Given the description of an element on the screen output the (x, y) to click on. 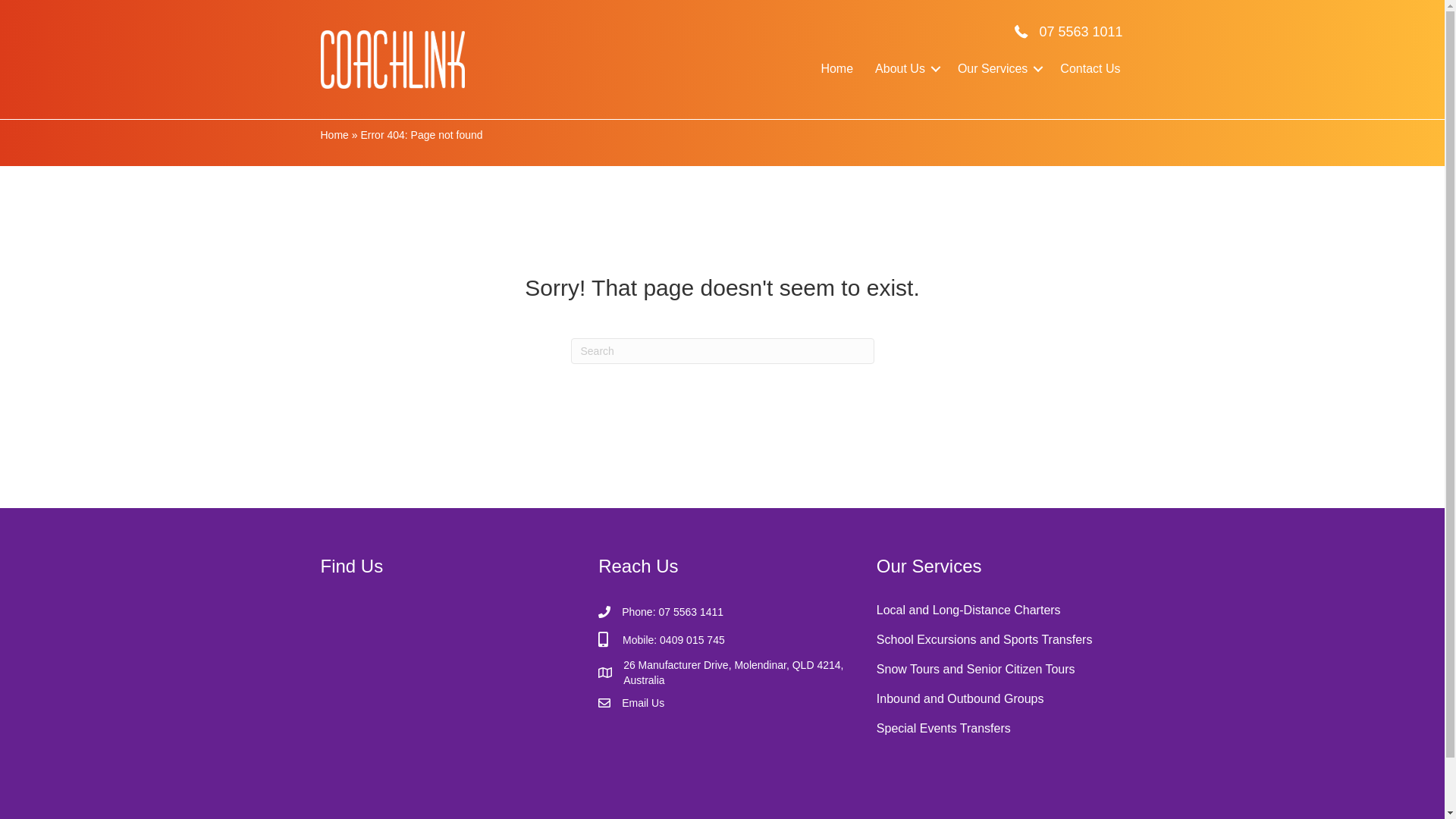
Home Element type: text (334, 134)
School Excursions and Sports Transfers Element type: text (1000, 637)
Inbound and Outbound Groups Element type: text (1000, 696)
Special Events Transfers Element type: text (1000, 726)
07 5563 1011 Element type: text (1080, 31)
 Mobile: 0409 015 745 Element type: text (671, 639)
About Us Element type: text (905, 68)
Phone: 07 5563 1411 Element type: text (672, 611)
Contact Us Element type: text (1089, 68)
Home Element type: text (836, 68)
Our Services Element type: text (997, 68)
Coachlink Larger Logo Element type: hover (392, 59)
Type and press Enter to search. Element type: hover (721, 351)
26 Manufacturer Drive, Molendinar, QLD 4214, Australia Element type: text (734, 672)
Local and Long-Distance Charters Element type: text (1000, 607)
Email Us Element type: text (642, 702)
Snow Tours and Senior Citizen Tours Element type: text (1000, 666)
